Given the description of an element on the screen output the (x, y) to click on. 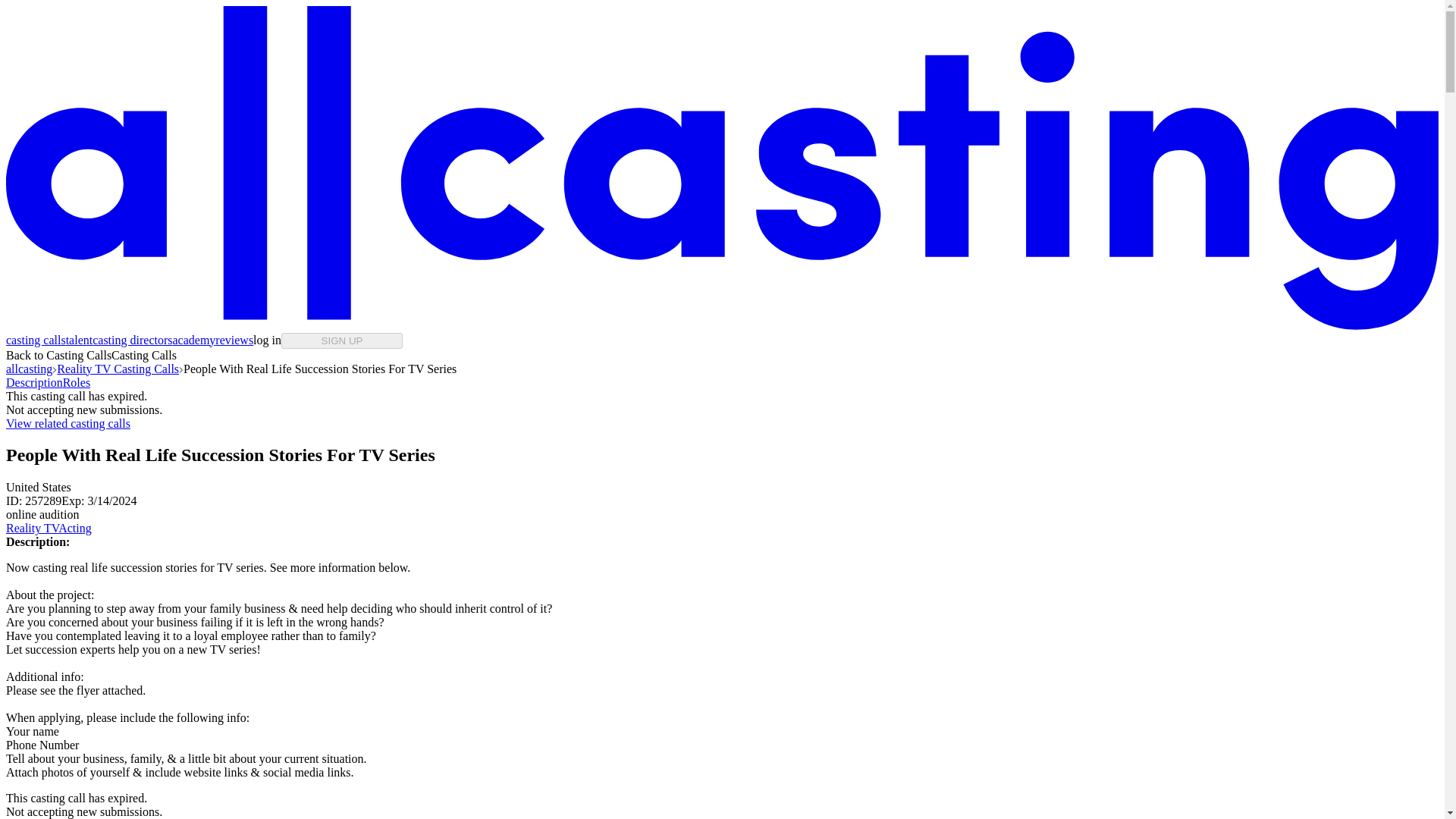
talent (79, 339)
academy (193, 339)
Description (33, 382)
Roles (76, 382)
View related casting calls (68, 422)
Reality TV Casting Calls (117, 368)
casting calls (35, 339)
Reality TV (31, 527)
SIGN UP (342, 340)
Acting (74, 527)
reviews (234, 339)
casting directors (132, 339)
allcasting (28, 368)
Back to Casting CallsCasting Calls (90, 354)
